Given the description of an element on the screen output the (x, y) to click on. 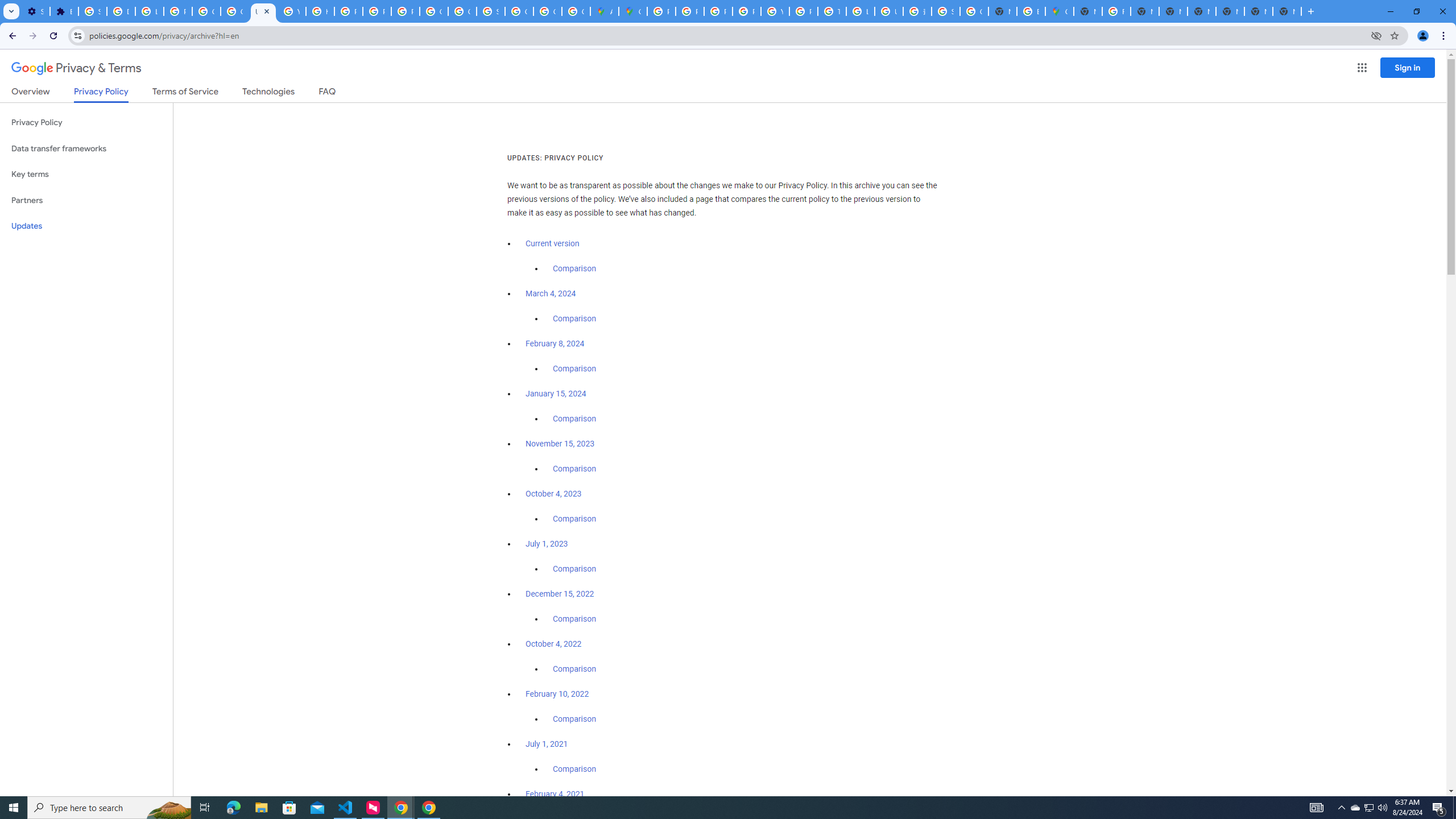
Sign in - Google Accounts (945, 11)
YouTube (291, 11)
Current version (552, 243)
Partners (86, 199)
November 15, 2023 (560, 443)
February 4, 2021 (555, 793)
Settings - On startup (35, 11)
